Given the description of an element on the screen output the (x, y) to click on. 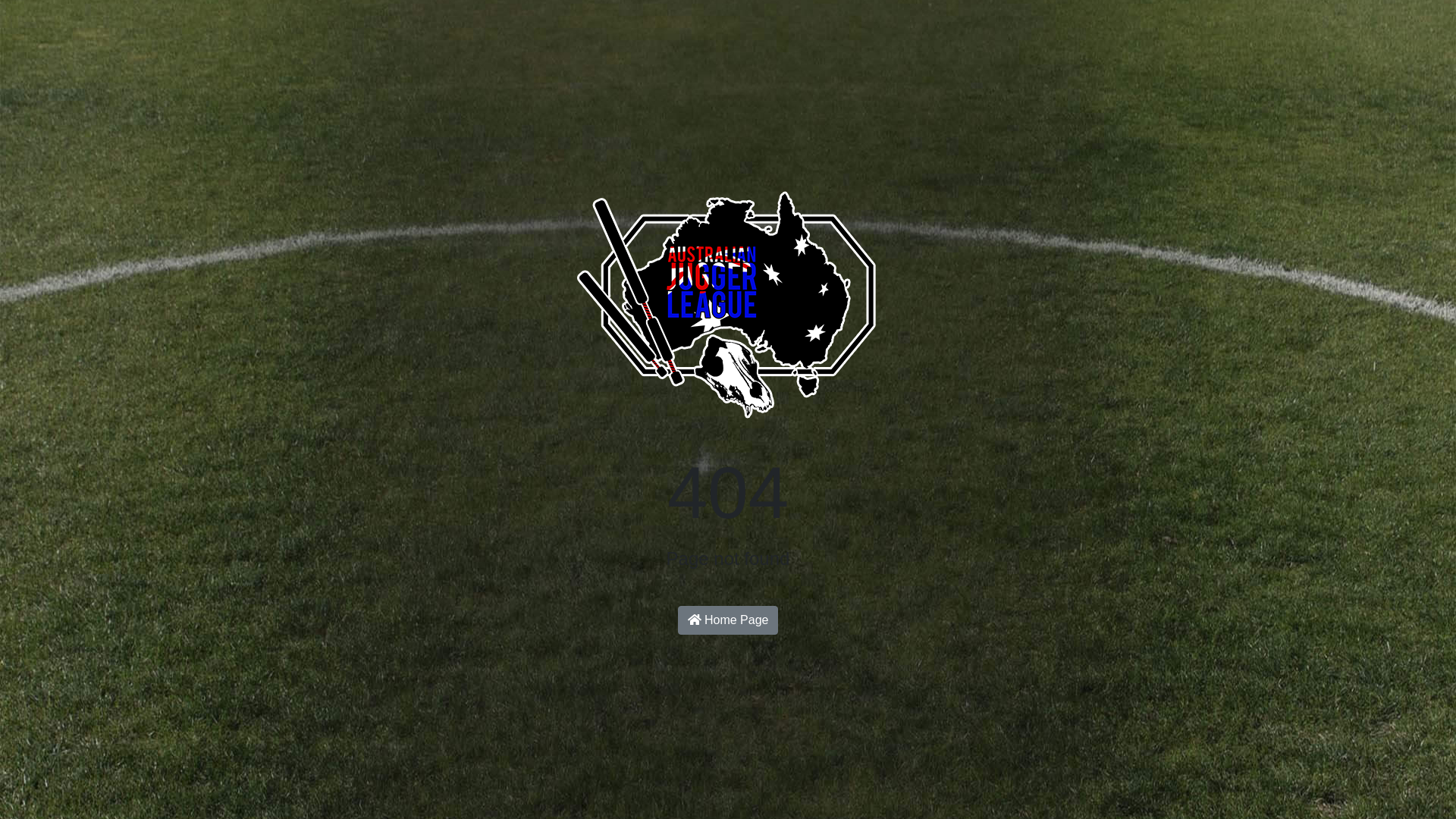
Home Page Element type: text (727, 619)
